Given the description of an element on the screen output the (x, y) to click on. 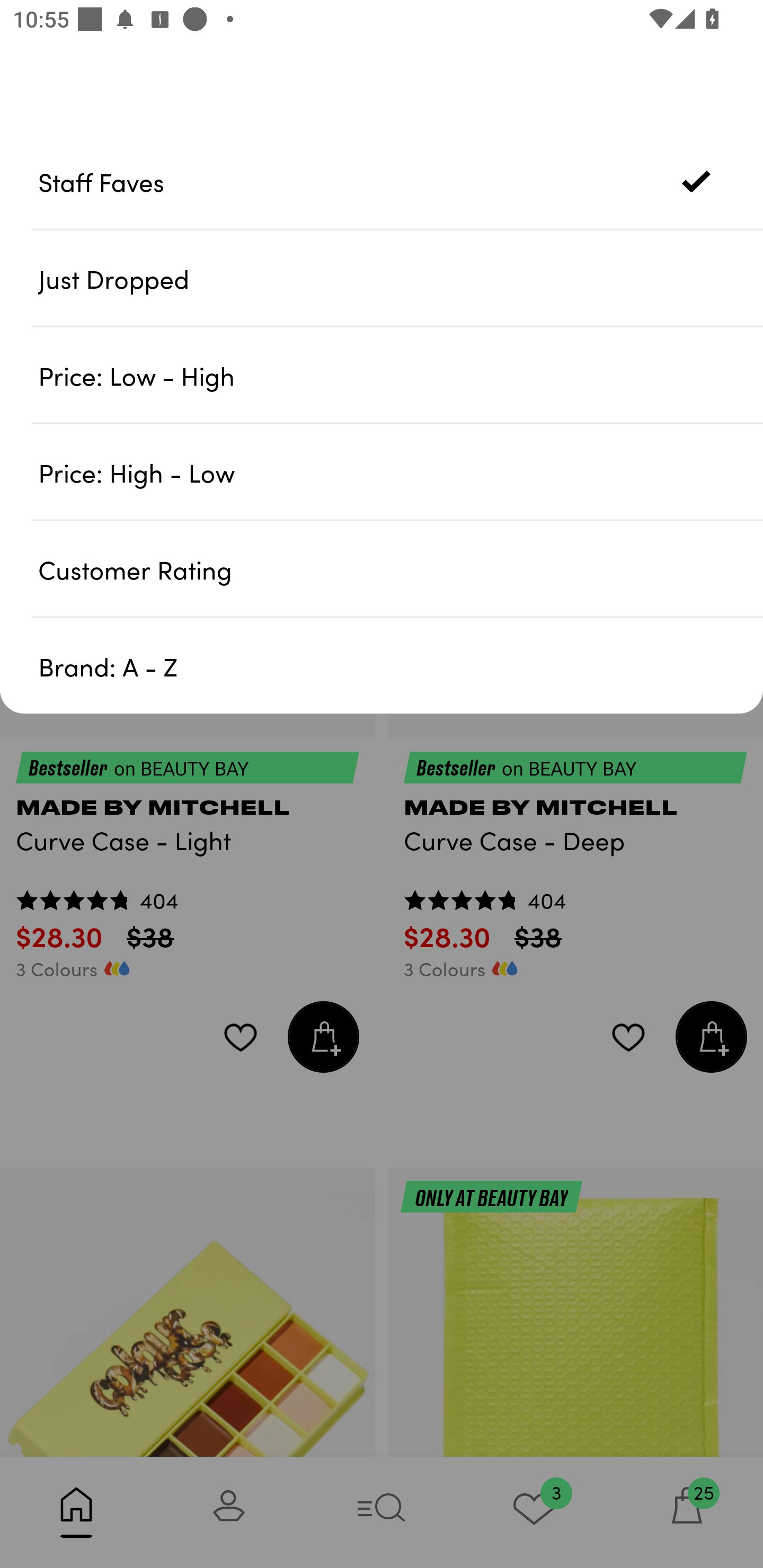
Staff Faves (400, 180)
Just Dropped (400, 278)
Price: Low - High (400, 375)
Price: High - Low (400, 471)
Customer Rating (400, 568)
Brand: A - Z (400, 665)
